Given the description of an element on the screen output the (x, y) to click on. 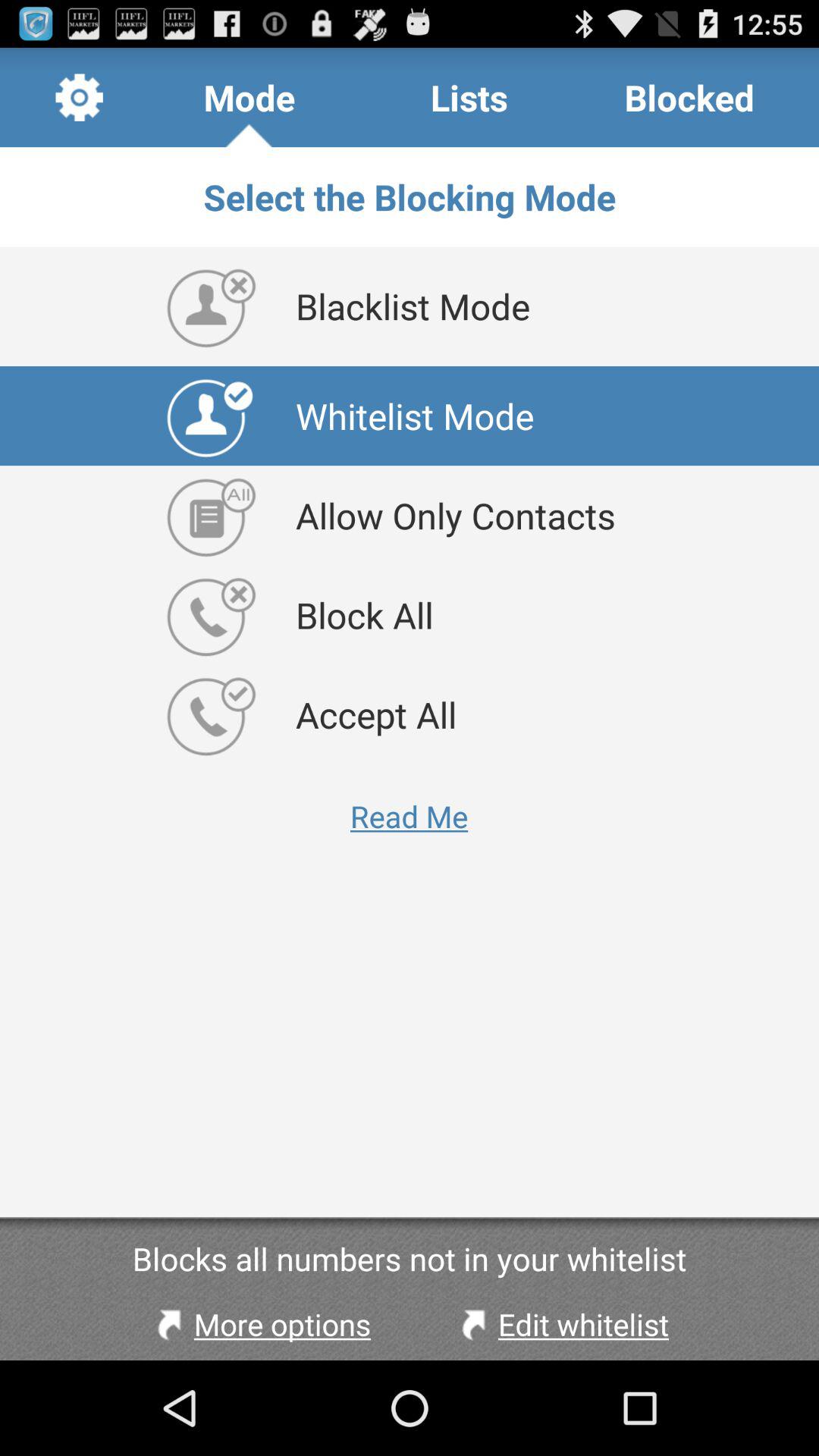
turn on the edit whitelist item (561, 1324)
